Given the description of an element on the screen output the (x, y) to click on. 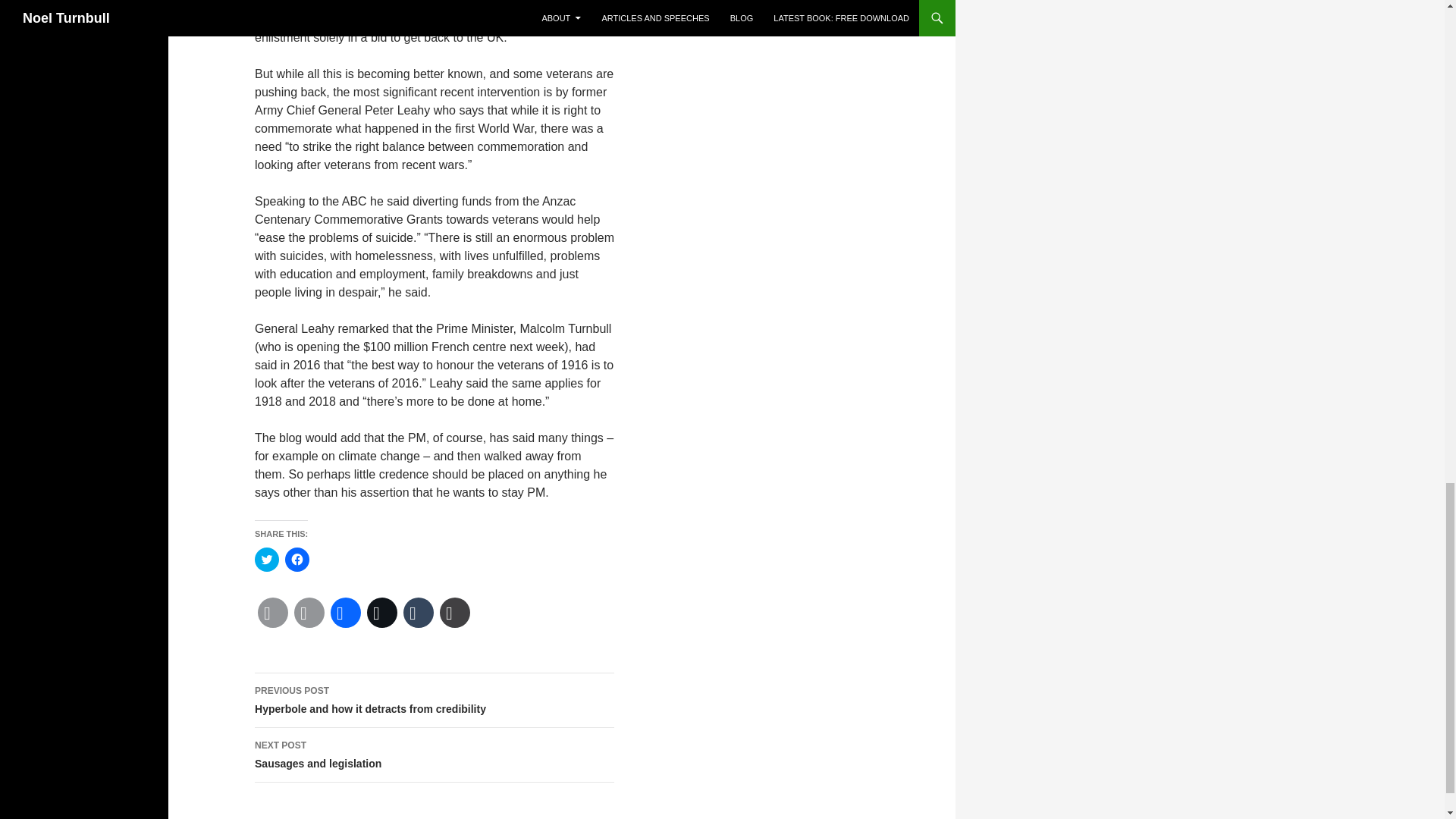
Click to share on Twitter (266, 559)
Click to share on Facebook (296, 559)
Email This (272, 612)
Tumblr (418, 612)
Instapaper (454, 612)
Facebook (345, 612)
Mail (309, 612)
